Given the description of an element on the screen output the (x, y) to click on. 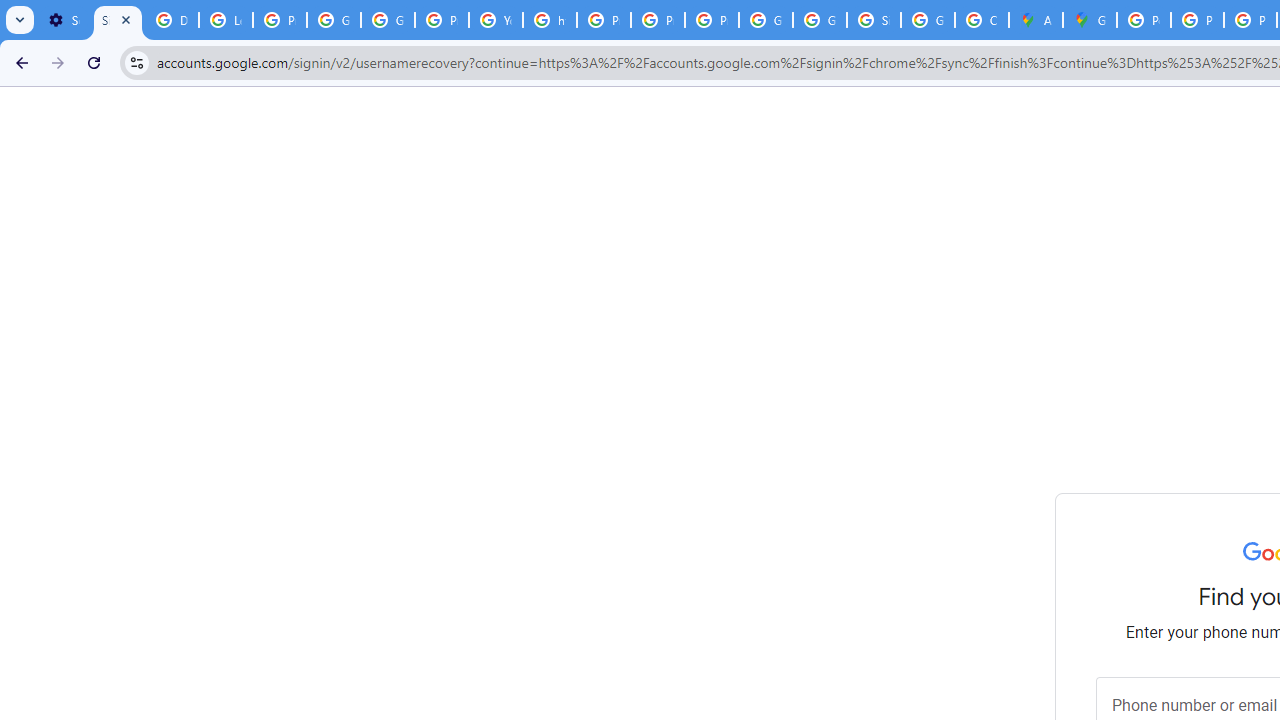
Sign in - Google Accounts (874, 20)
Google Account Help (387, 20)
Learn how to find your photos - Google Photos Help (225, 20)
Privacy Help Center - Policies Help (1197, 20)
https://scholar.google.com/ (550, 20)
YouTube (495, 20)
Create your Google Account (981, 20)
Privacy Help Center - Policies Help (604, 20)
Google Account Help (333, 20)
Delete photos & videos - Computer - Google Photos Help (171, 20)
